Given the description of an element on the screen output the (x, y) to click on. 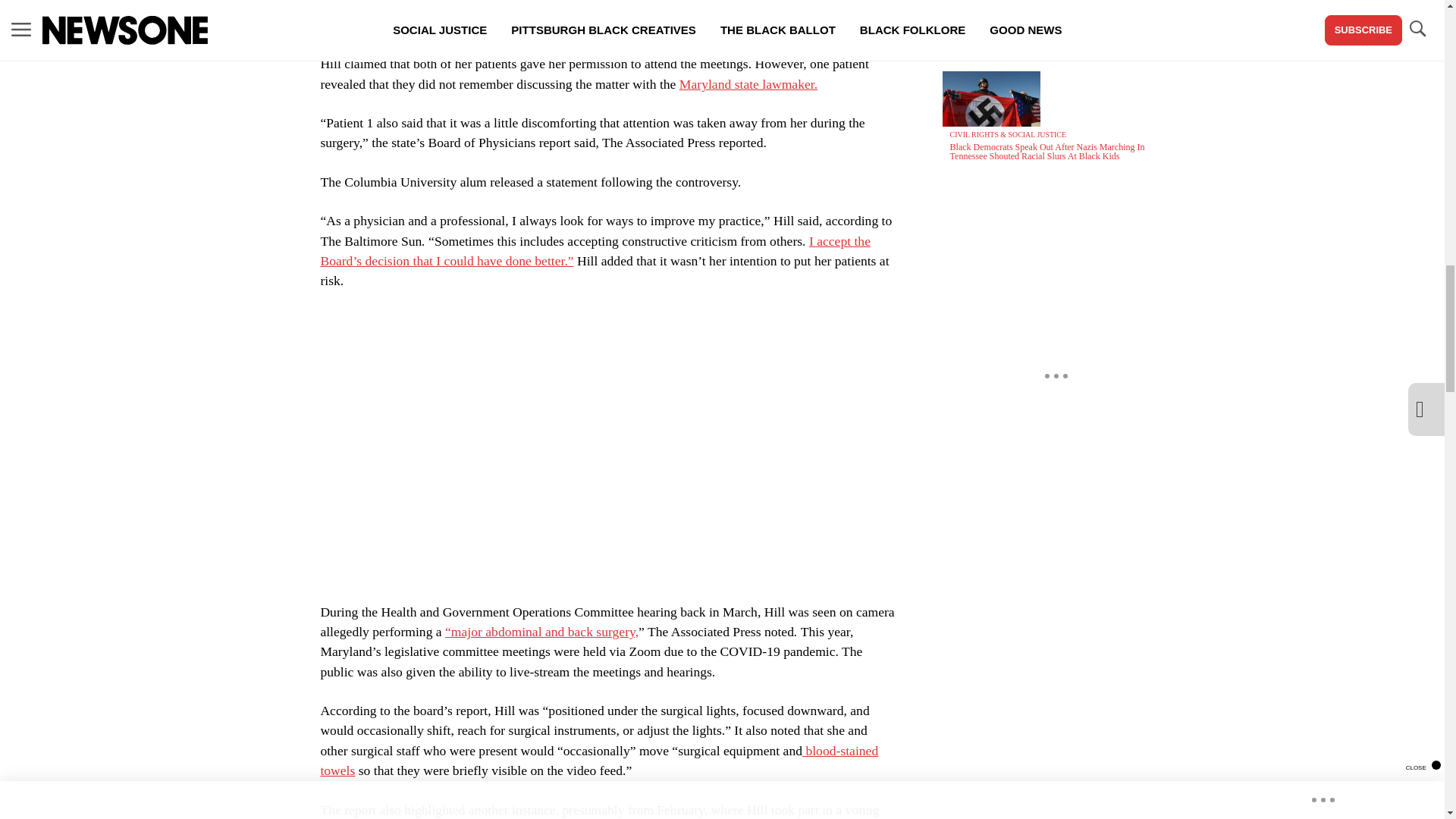
blood-stained towels (598, 760)
Embedded video (607, 446)
Maryland state lawmaker. (747, 83)
